Given the description of an element on the screen output the (x, y) to click on. 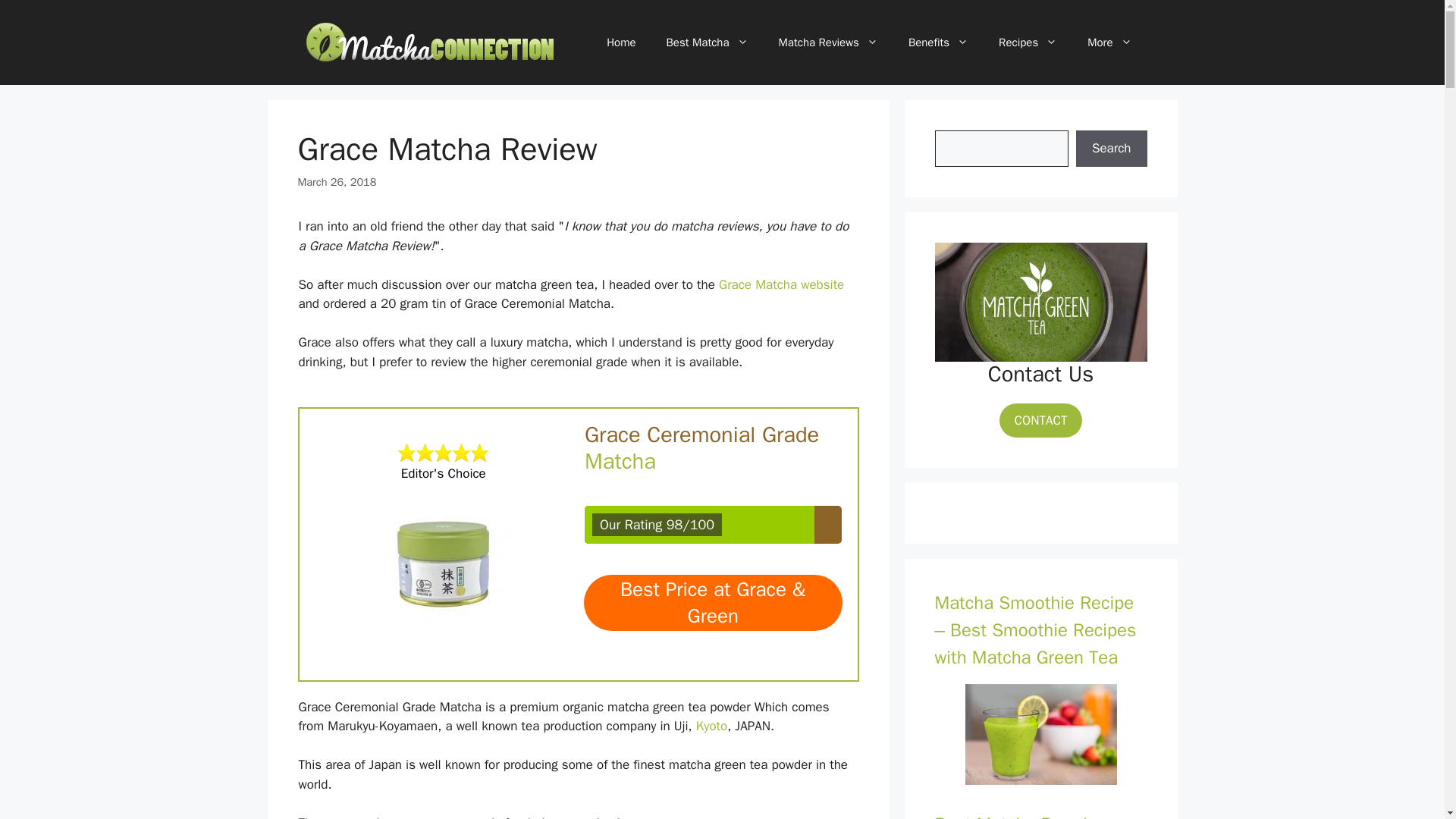
Benefits (938, 42)
More (1109, 42)
Home (620, 42)
Best Matcha (706, 42)
Matcha Reviews (827, 42)
Grace Matcha website (781, 284)
Grace Matcha (443, 559)
Recipes (1027, 42)
